Given the description of an element on the screen output the (x, y) to click on. 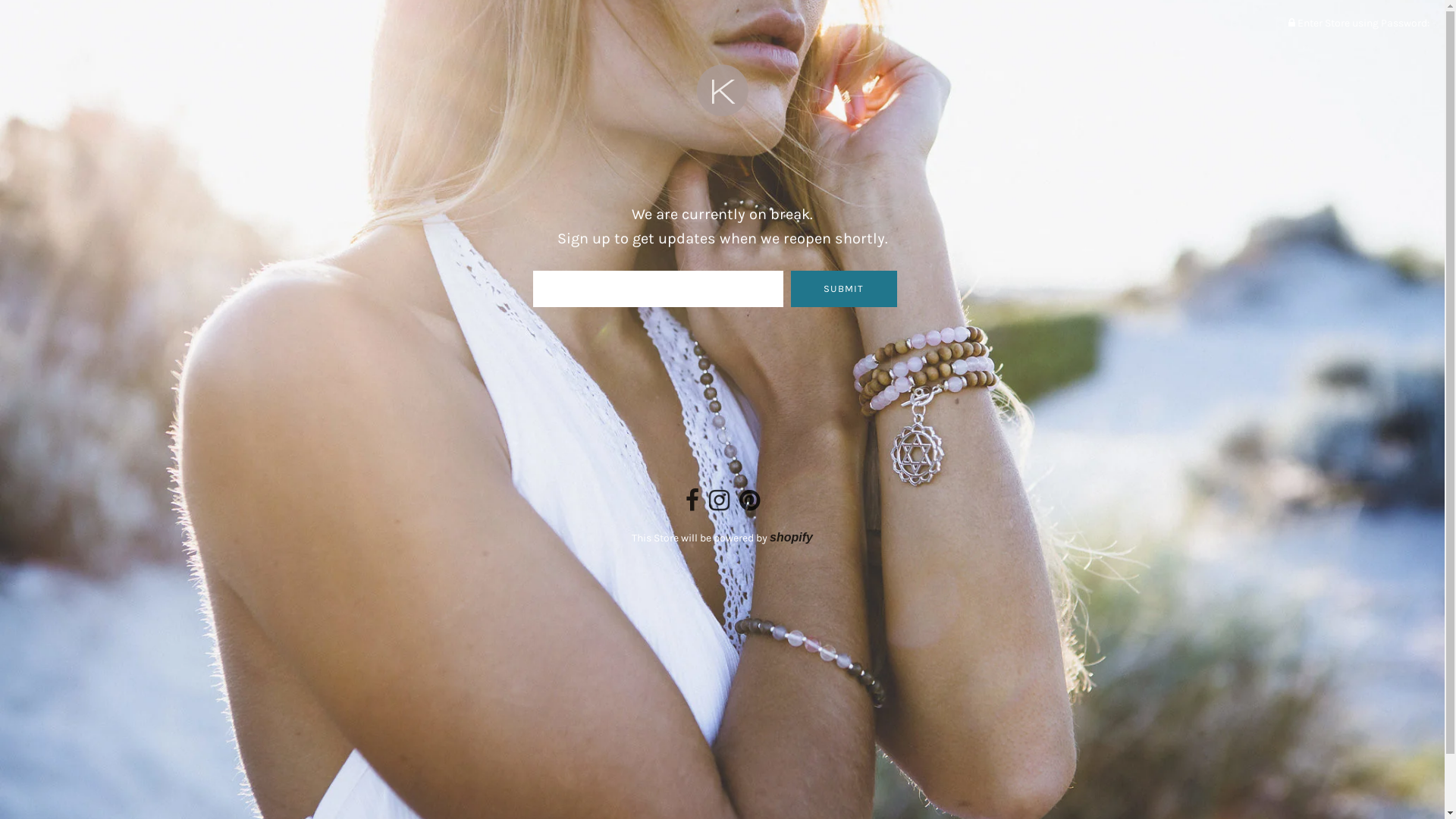
shopify Element type: text (790, 536)
Submit Element type: text (843, 288)
